Given the description of an element on the screen output the (x, y) to click on. 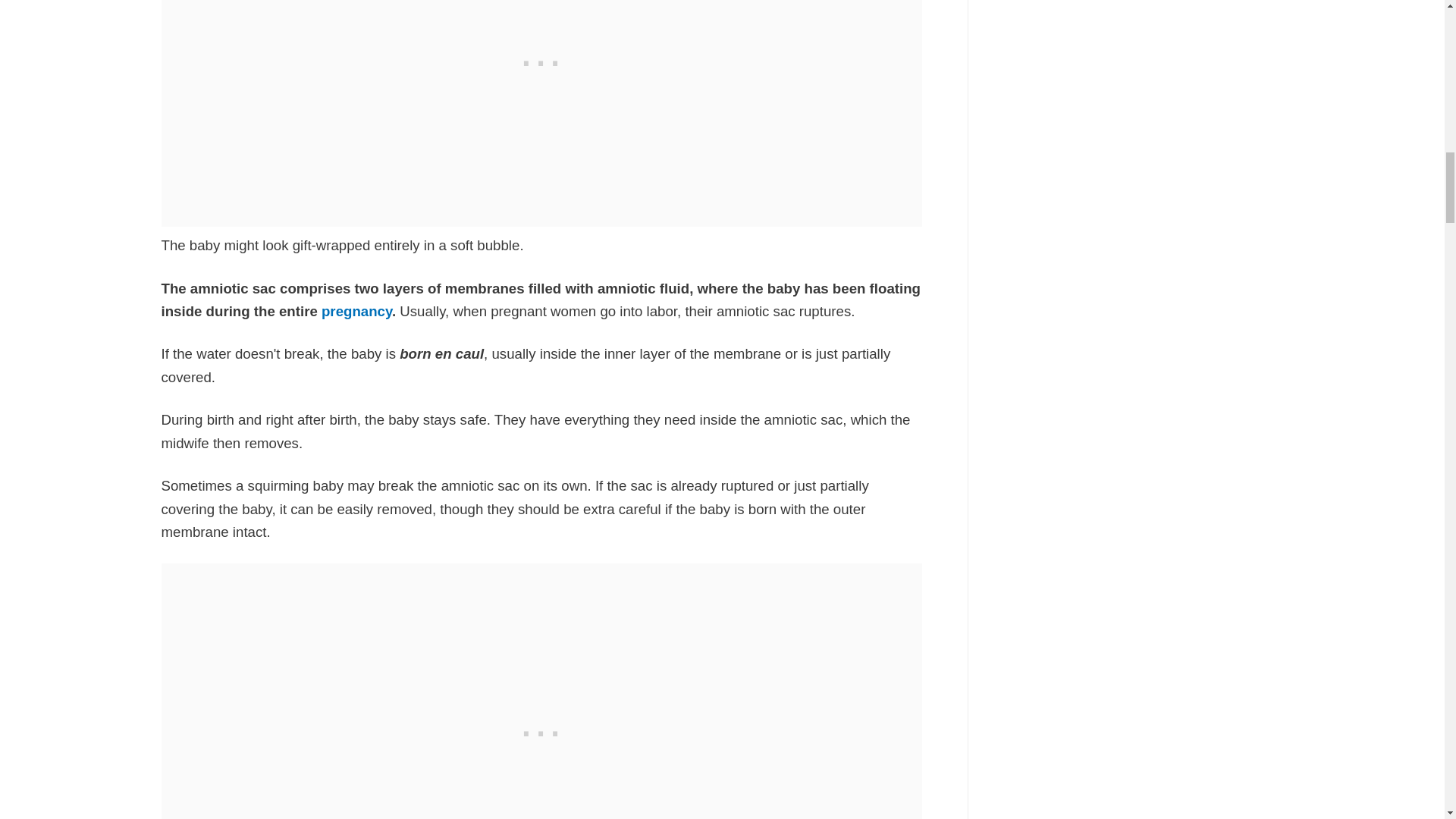
pregnancy (356, 311)
